Given the description of an element on the screen output the (x, y) to click on. 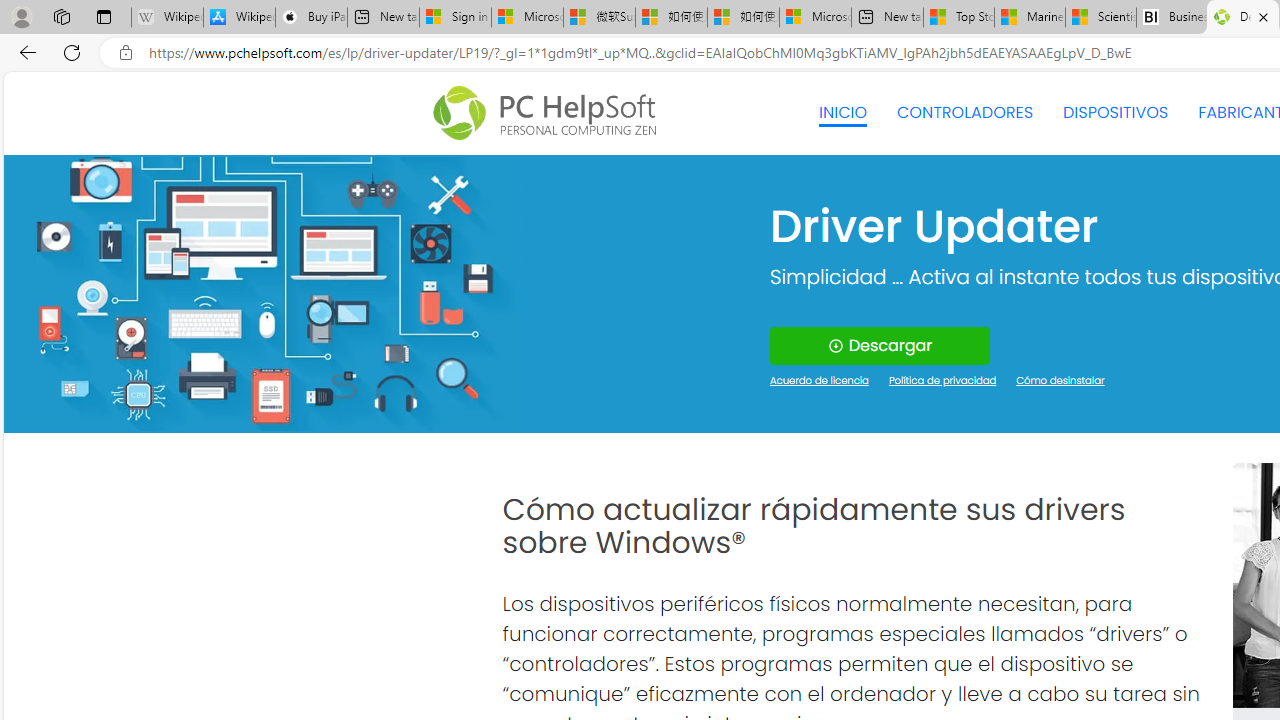
Logo Personal Computing (550, 113)
Download Icon (834, 345)
Top Stories - MSN (959, 17)
Generic (263, 293)
DISPOSITIVOS (1115, 112)
INICIO (842, 112)
Acuerdo de licencia (819, 381)
Logo Personal Computing (550, 113)
